Given the description of an element on the screen output the (x, y) to click on. 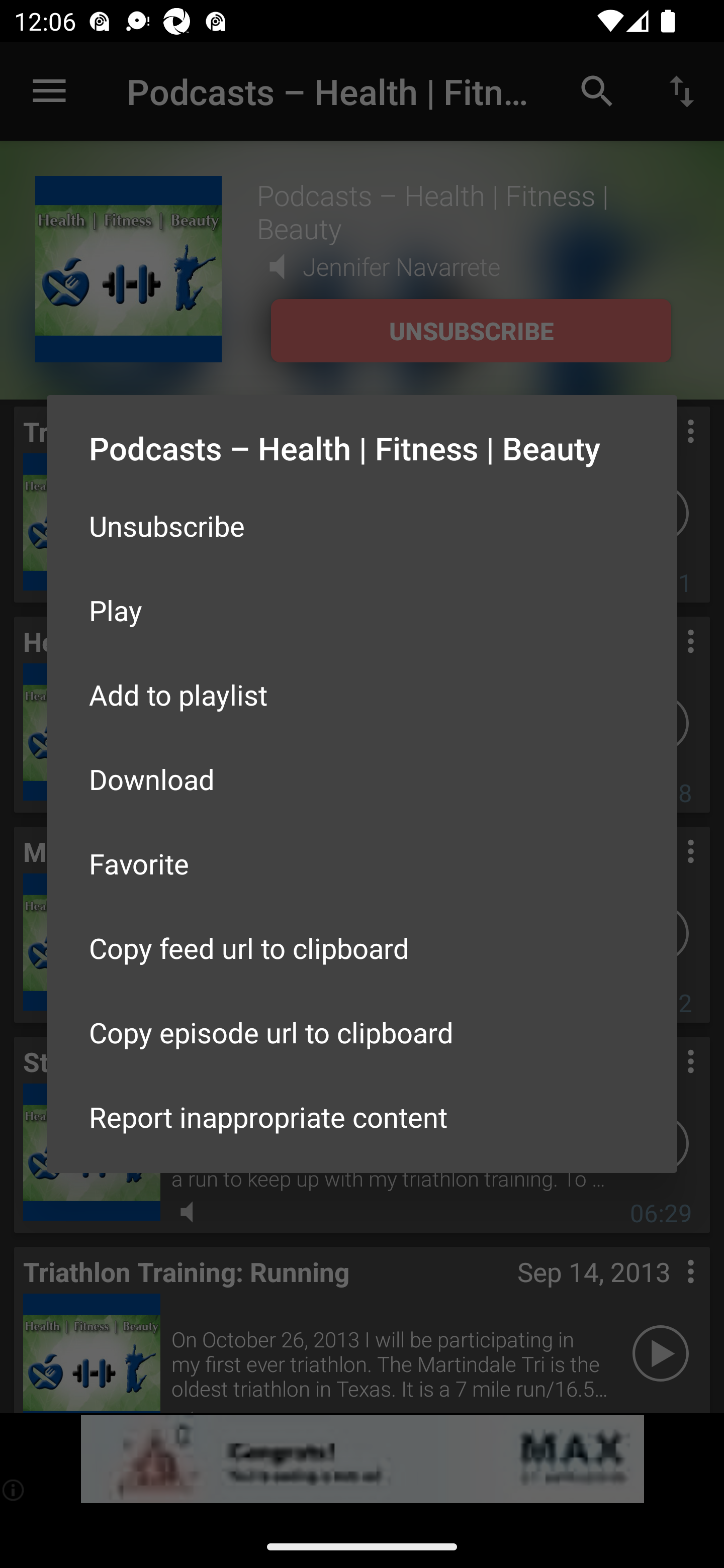
Unsubscribe (361, 524)
Play (361, 609)
Add to playlist (361, 694)
Download (361, 778)
Favorite (361, 863)
Copy feed url to clipboard (361, 947)
Copy episode url to clipboard (361, 1031)
Report inappropriate content (361, 1116)
